Given the description of an element on the screen output the (x, y) to click on. 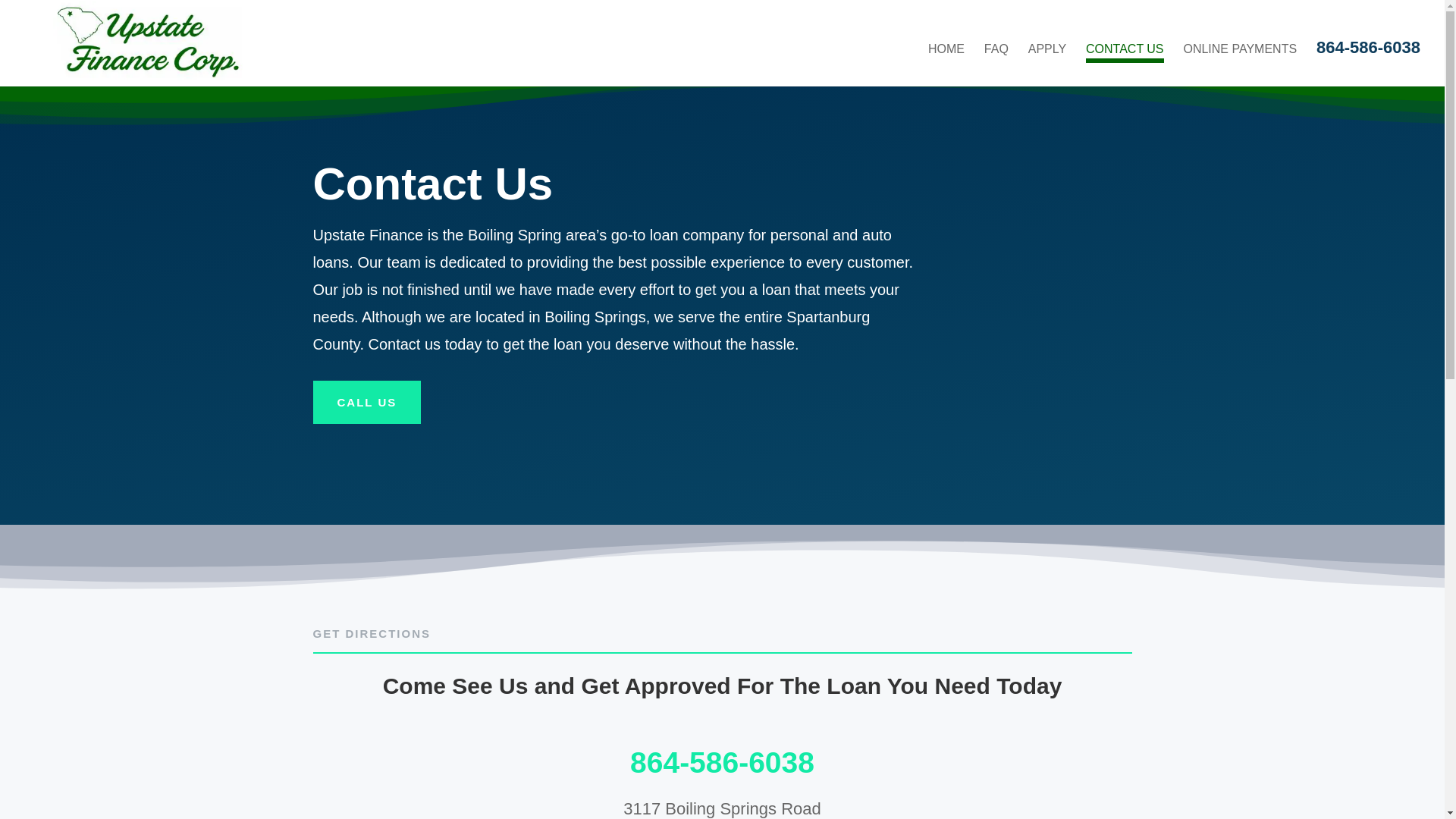
FAQ (996, 52)
APPLY (1046, 52)
HOME (945, 52)
CALL US (366, 402)
CONTACT US (1124, 53)
864-586-6038 (1368, 51)
ONLINE PAYMENTS (1239, 52)
864-586-6038 (721, 762)
